Given the description of an element on the screen output the (x, y) to click on. 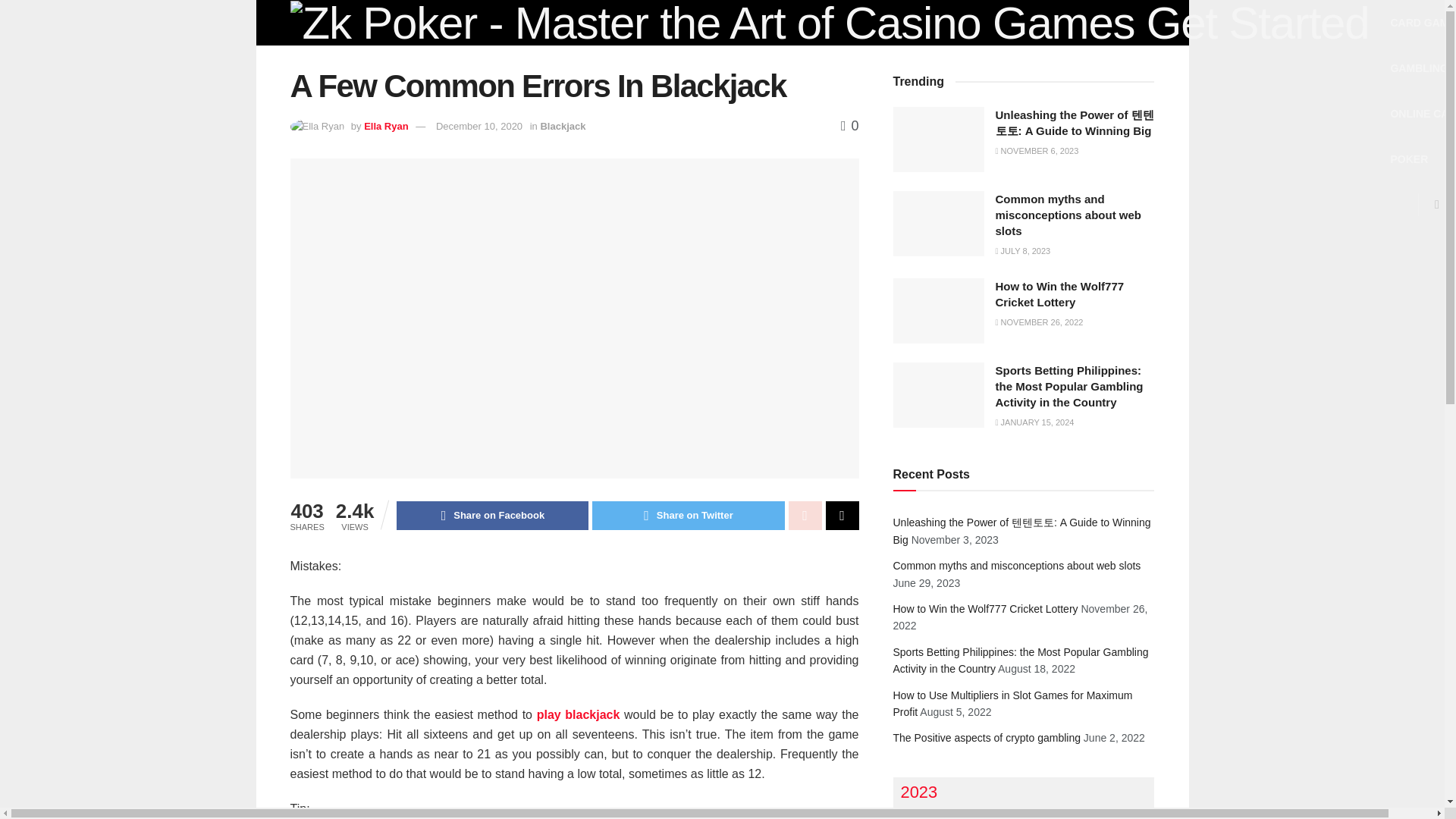
December 10, 2020 (478, 125)
CARD GAME (1422, 22)
GAMBLING (1418, 67)
0 (850, 125)
Blackjack (562, 125)
ONLINE CASINO (1423, 113)
Share on Facebook (492, 515)
Ella Ryan (386, 125)
play blackjack (578, 714)
Share on Twitter (688, 515)
